Given the description of an element on the screen output the (x, y) to click on. 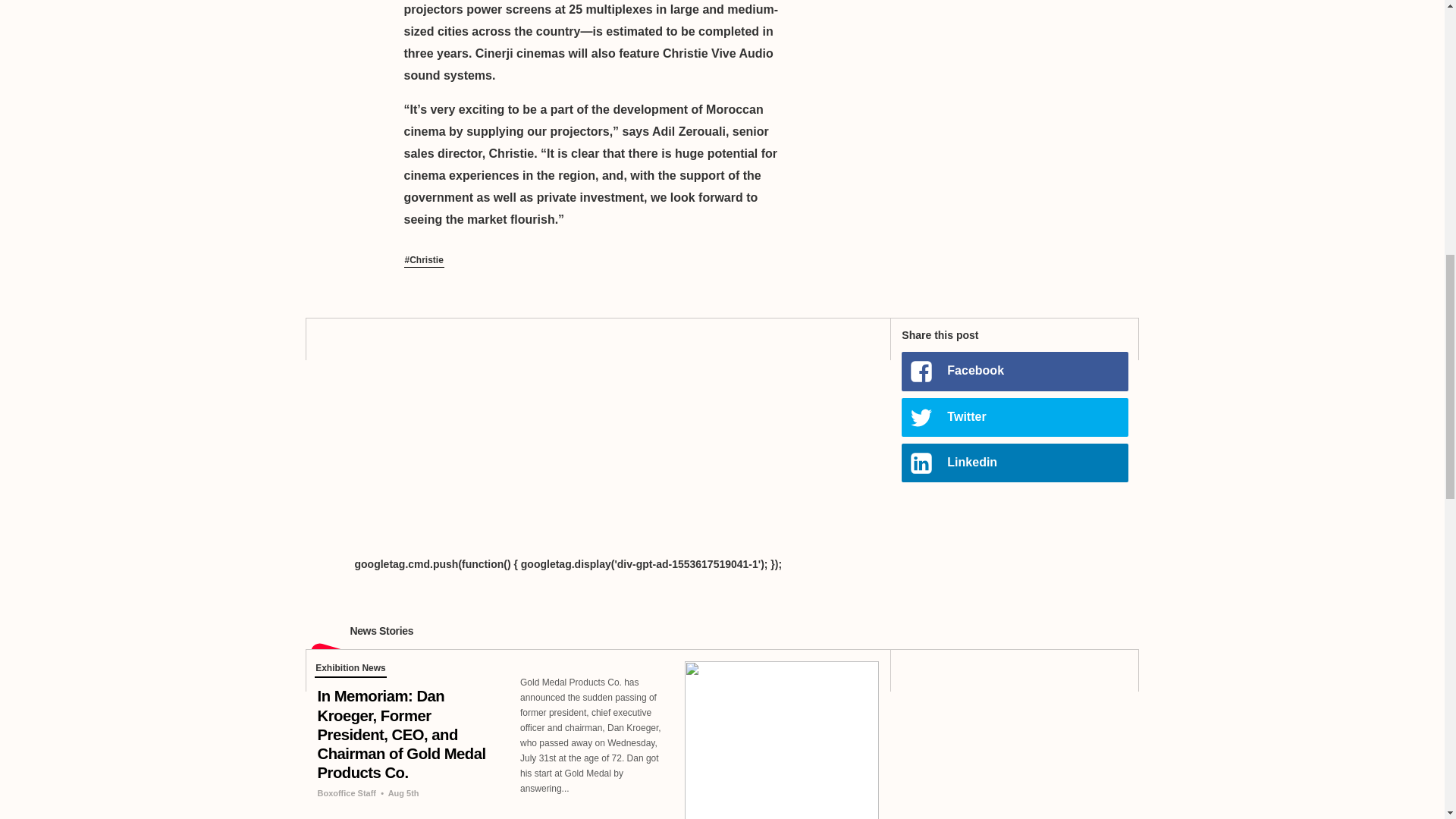
Linkedin (1013, 462)
Christie (423, 260)
Exhibition News (349, 670)
Facebook (1013, 371)
Twitter (1013, 417)
